Given the description of an element on the screen output the (x, y) to click on. 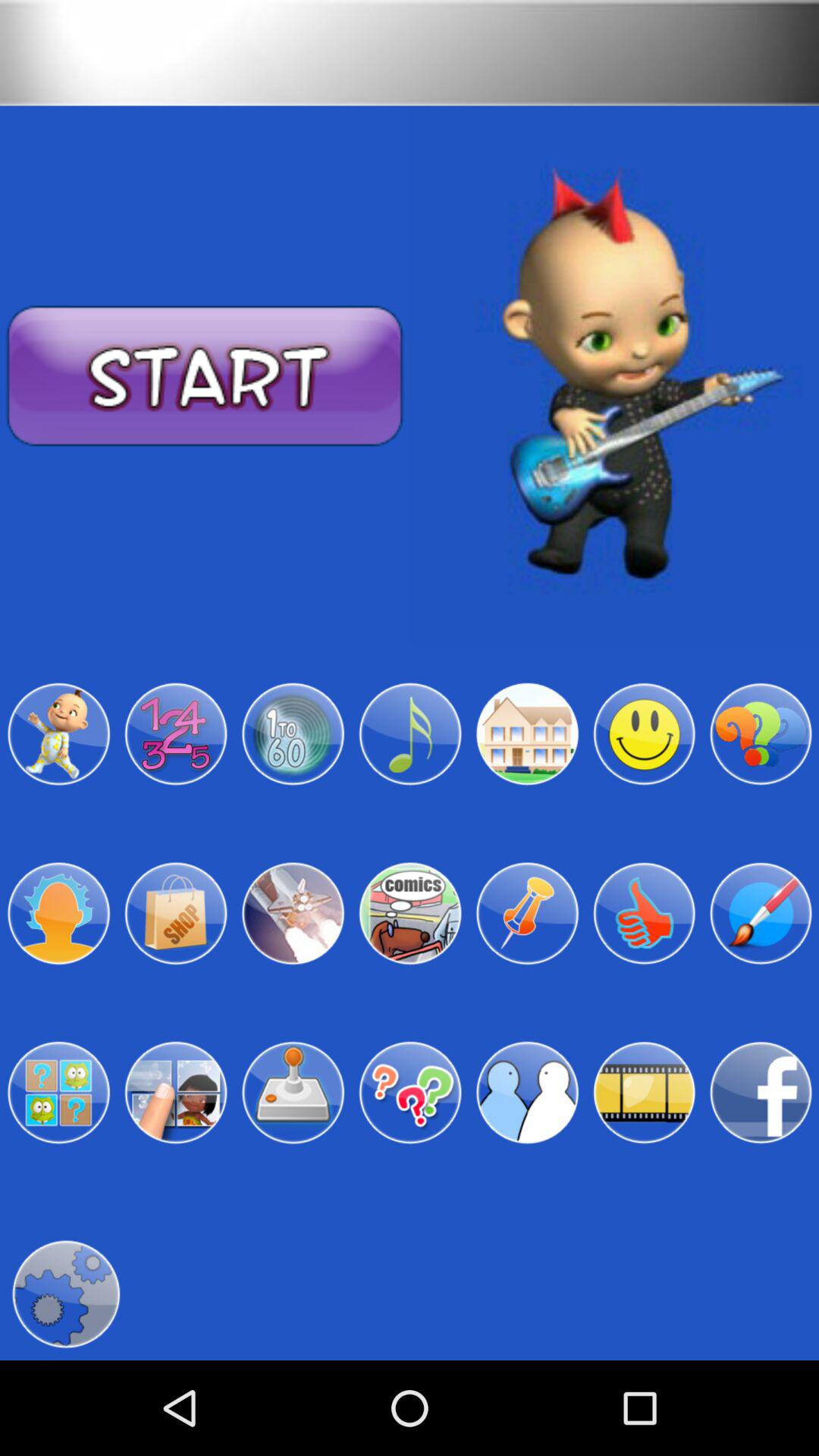
shop from app (175, 913)
